Given the description of an element on the screen output the (x, y) to click on. 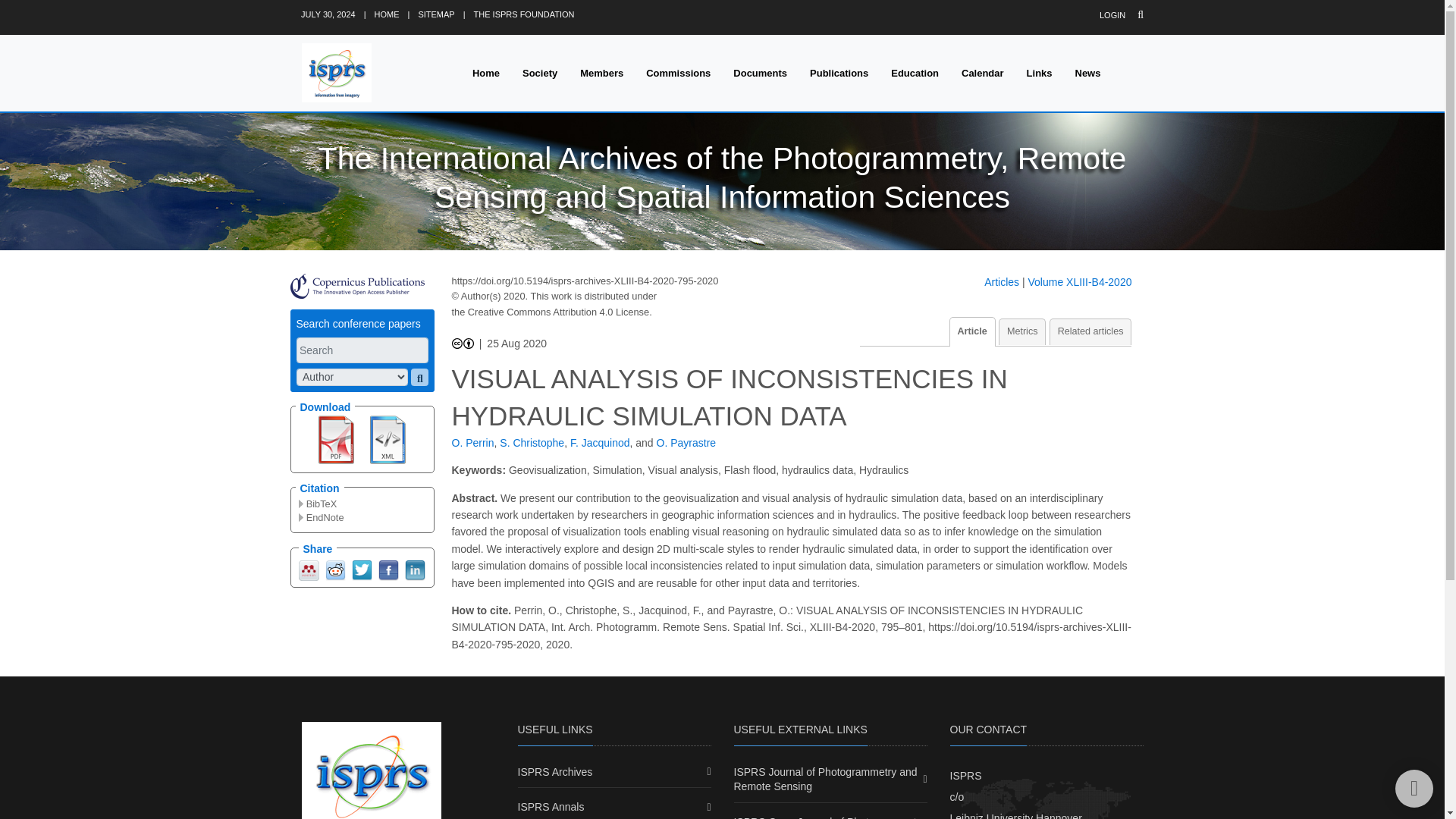
LOGIN (1112, 14)
SITEMAP (435, 13)
Home (485, 73)
Society (539, 73)
HOME (386, 13)
THE ISPRS FOUNDATION (524, 13)
